Given the description of an element on the screen output the (x, y) to click on. 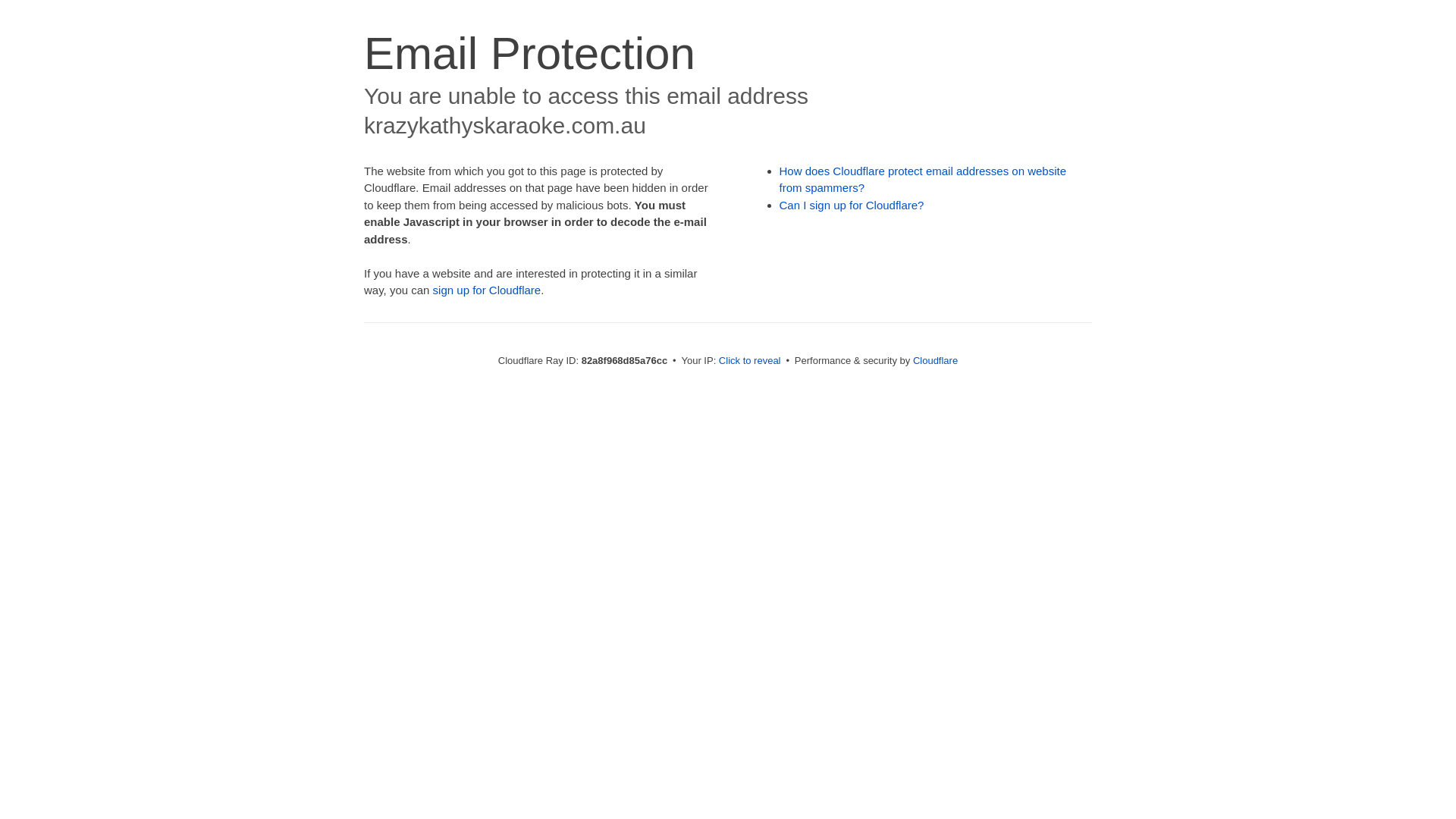
sign up for Cloudflare Element type: text (487, 289)
Can I sign up for Cloudflare? Element type: text (851, 204)
Click to reveal Element type: text (749, 360)
Cloudflare Element type: text (935, 360)
